Given the description of an element on the screen output the (x, y) to click on. 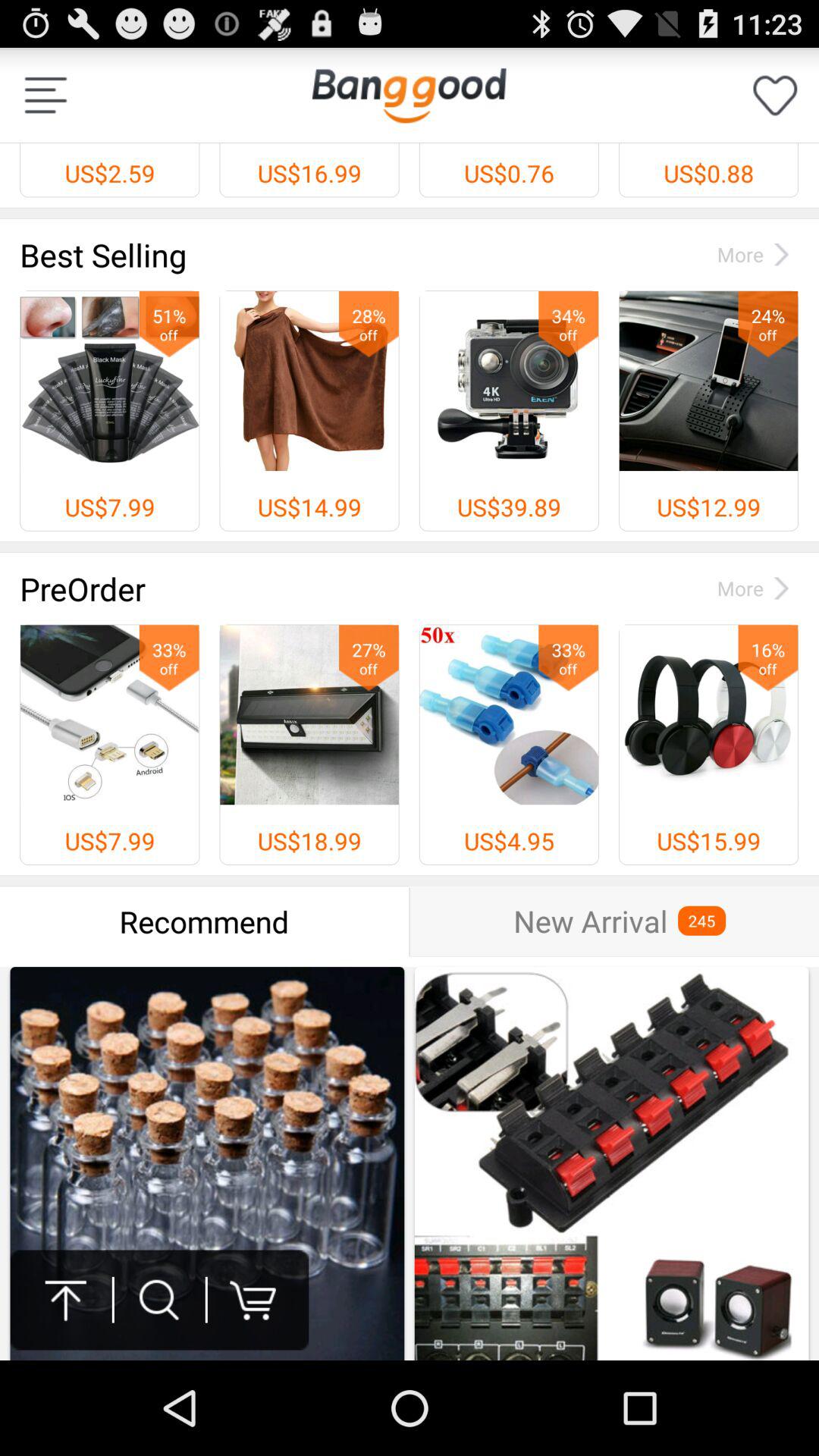
tap the item to the left of the 245 item (590, 920)
